Given the description of an element on the screen output the (x, y) to click on. 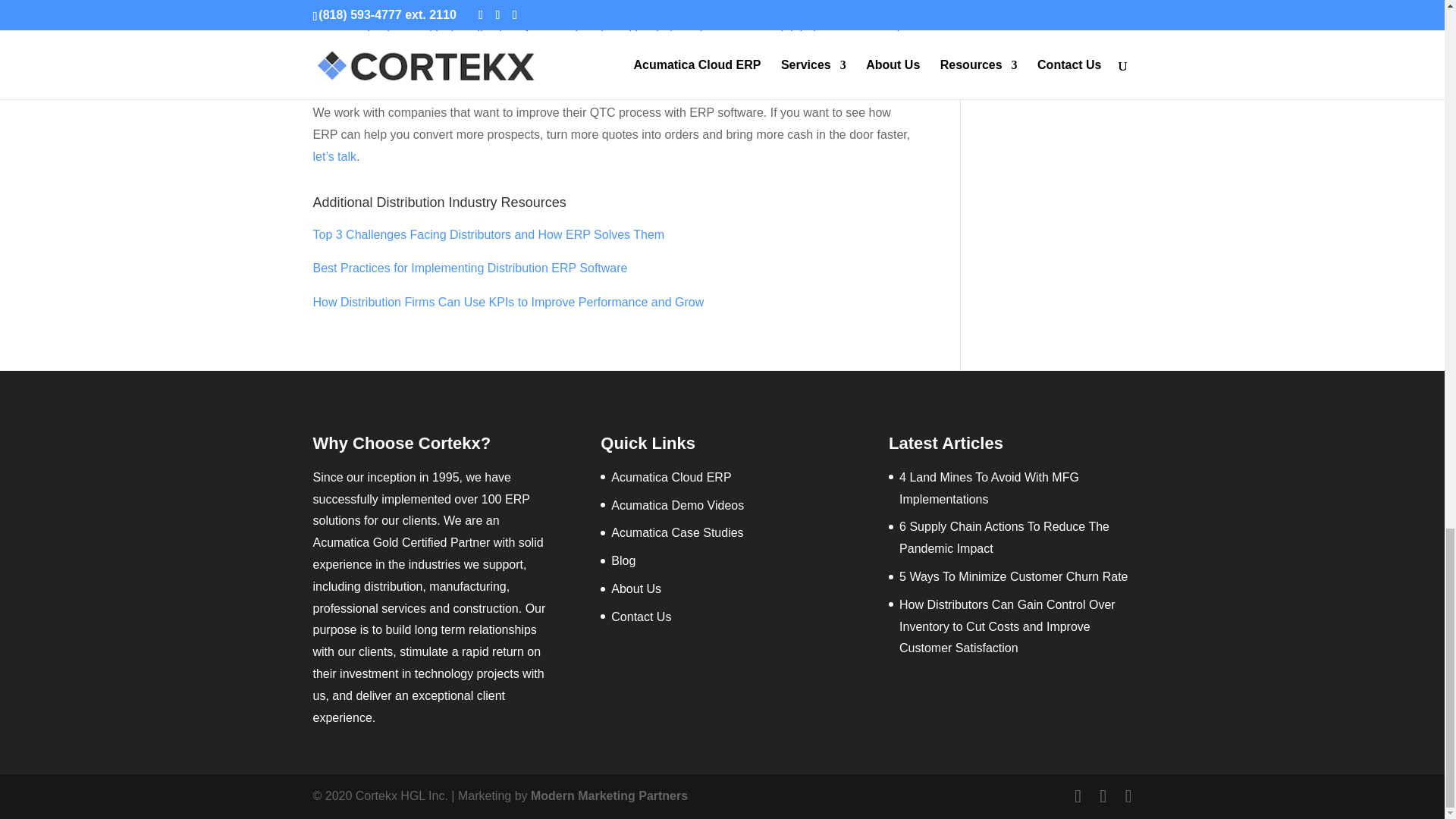
Acumatica Distribution Edition (393, 12)
